Given the description of an element on the screen output the (x, y) to click on. 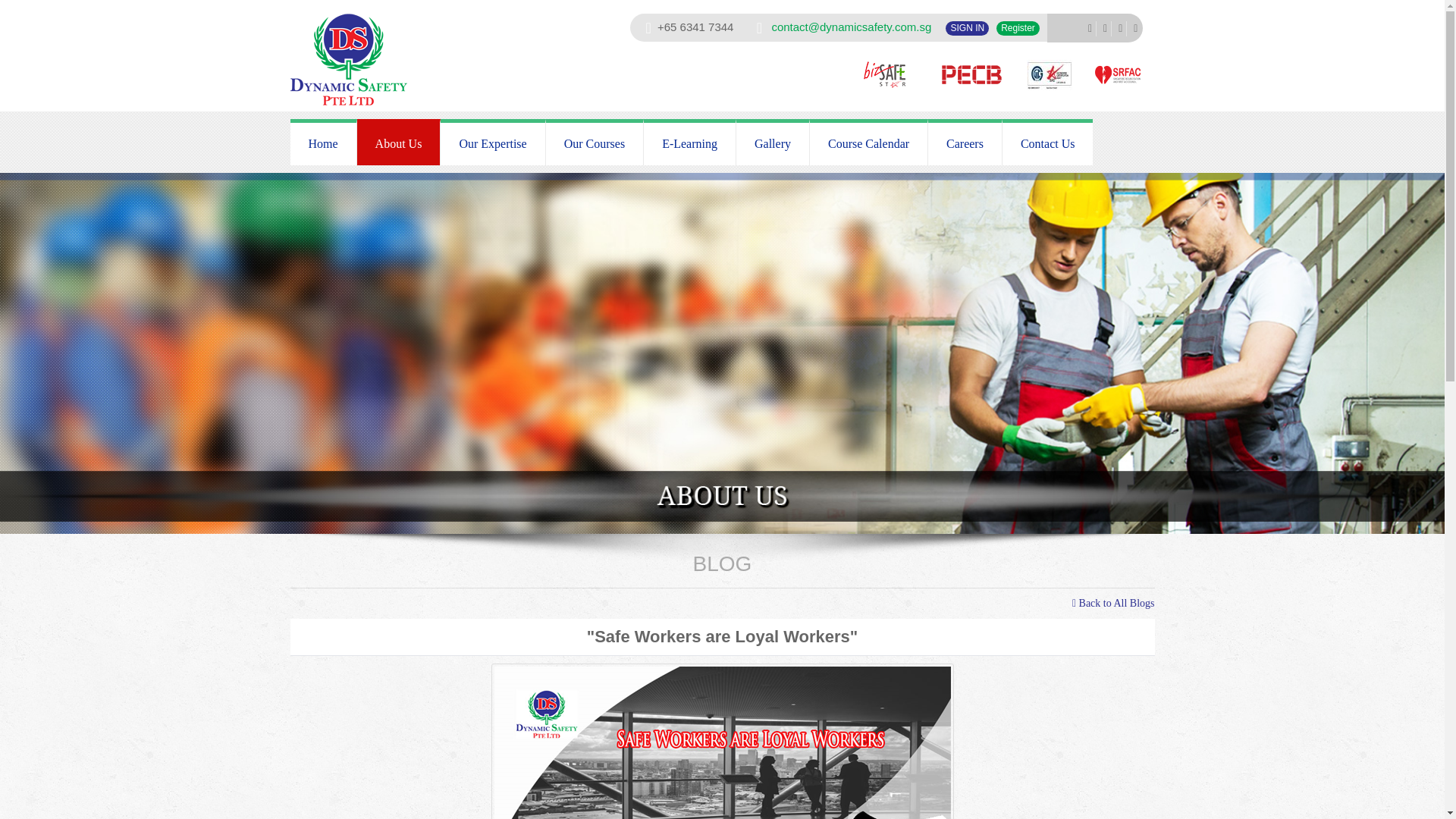
Home (322, 141)
Back to All Blogs (1112, 603)
Our Expertise (492, 141)
Gallery (772, 141)
Register (1017, 28)
Contact Us (1048, 141)
About Us (398, 141)
Course Calendar (868, 141)
Careers (965, 141)
Our Courses (594, 141)
SIGN IN (966, 28)
E-Learning (689, 141)
